Given the description of an element on the screen output the (x, y) to click on. 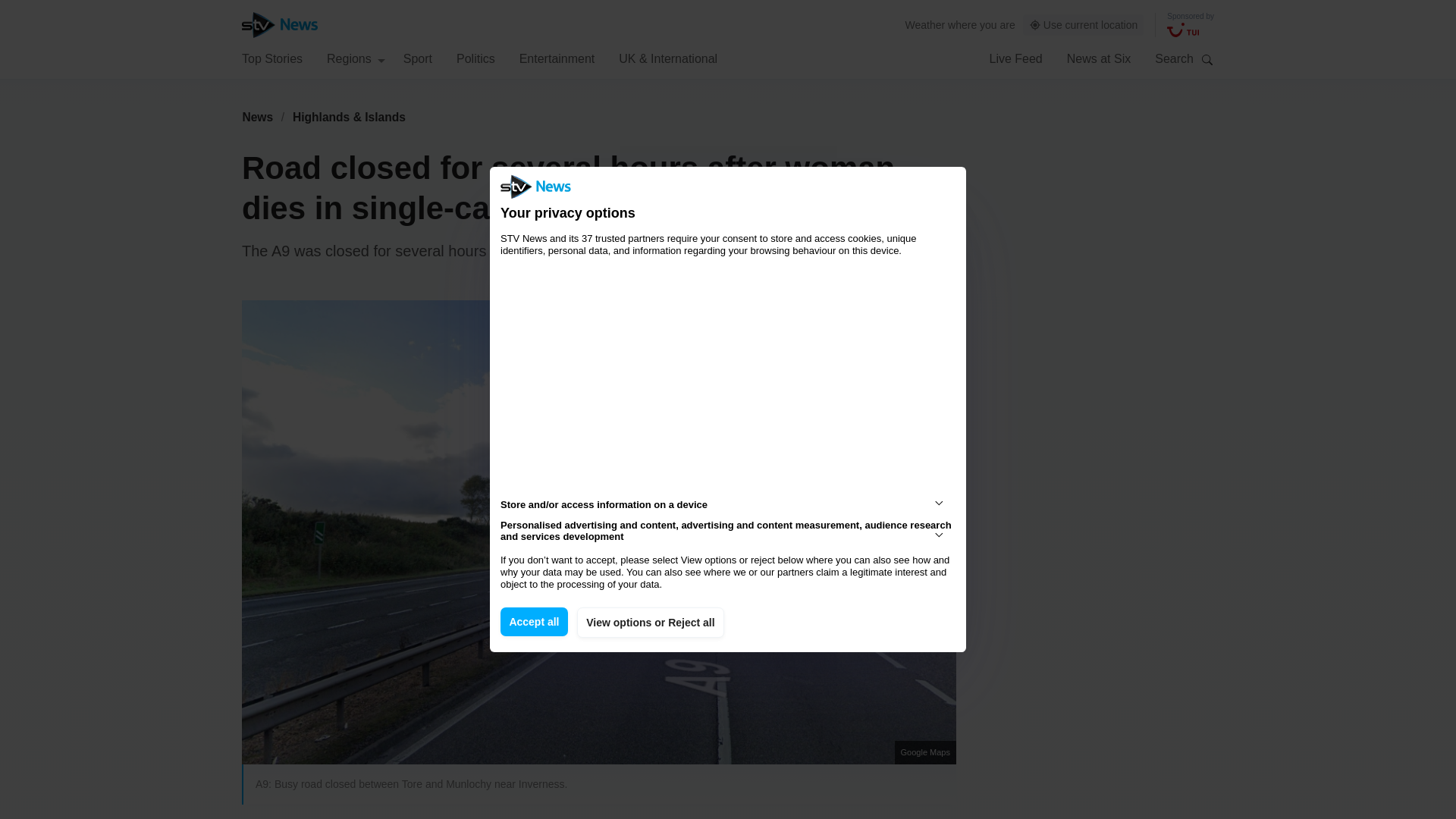
News (257, 116)
Search (1206, 59)
Regions (355, 57)
Live Feed (1015, 57)
Weather (924, 24)
Top Stories (271, 57)
News at Six (1099, 57)
Politics (476, 57)
Use current location (1083, 25)
Entertainment (557, 57)
